Given the description of an element on the screen output the (x, y) to click on. 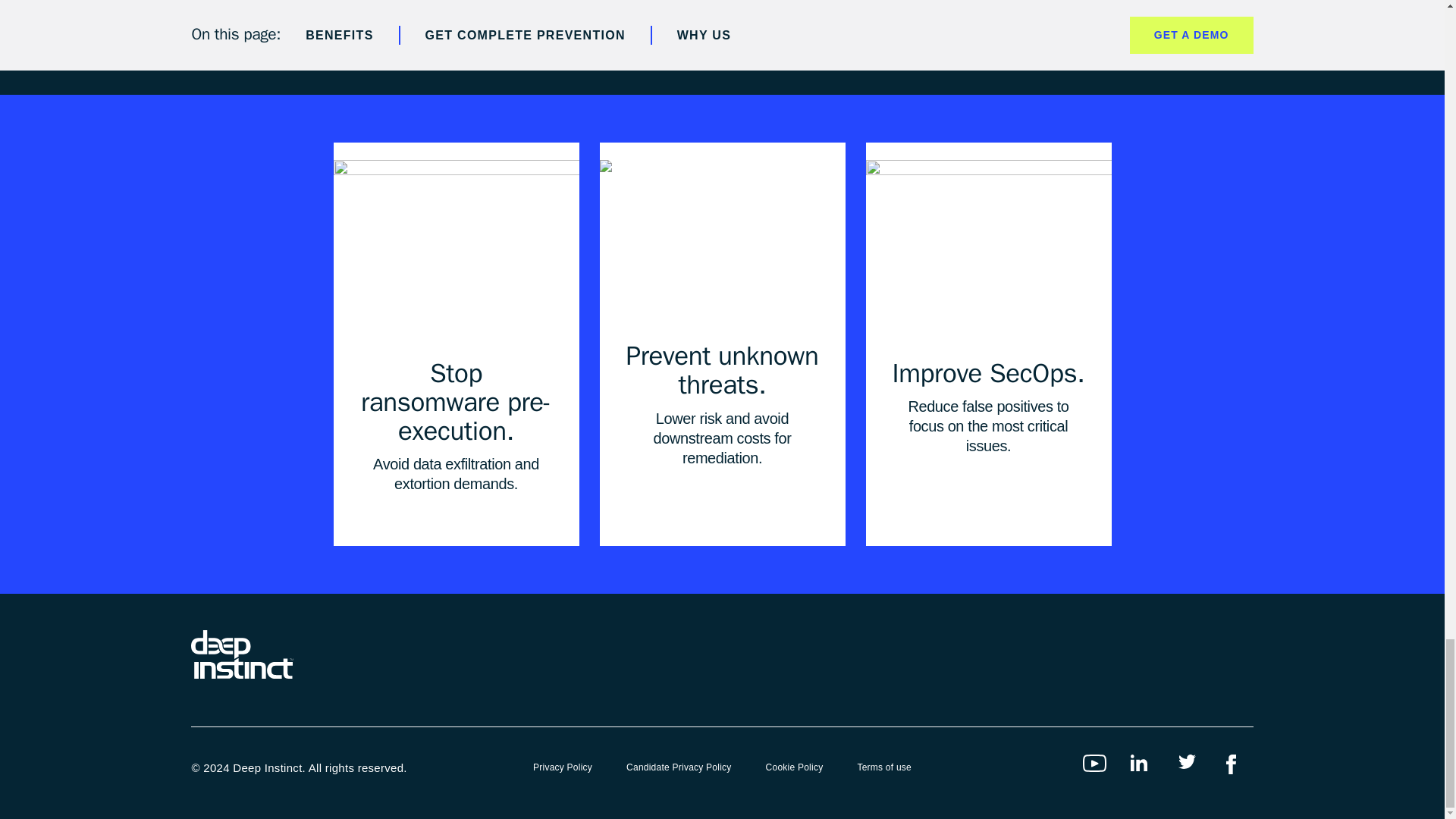
Deep Instinct is Immune to Adversarial AI (721, 241)
Candidate Privacy Policy (679, 767)
Terms of use (884, 767)
Privacy Policy (562, 767)
Cookie Policy (794, 767)
